Given the description of an element on the screen output the (x, y) to click on. 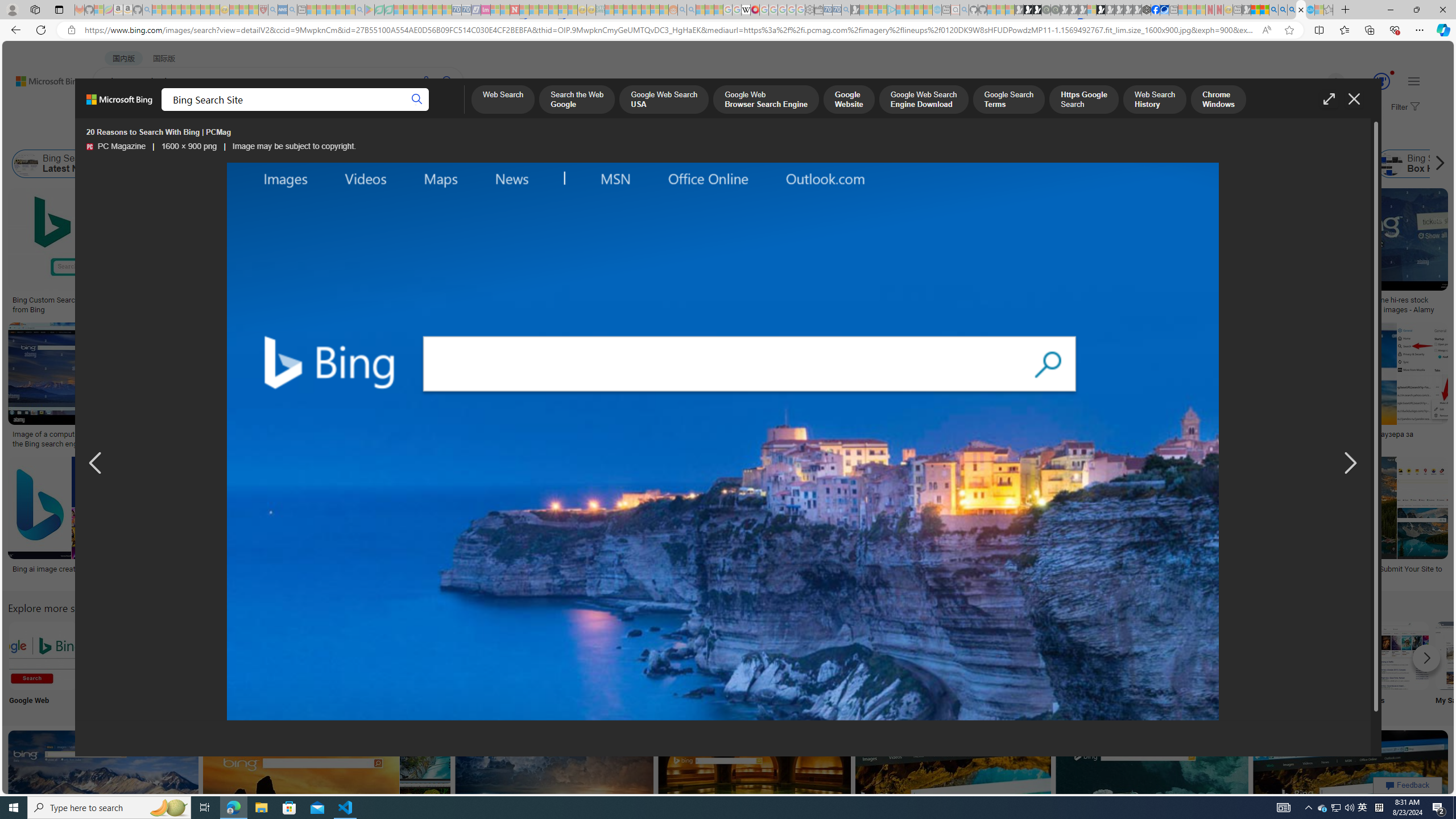
Search button (417, 99)
Color (173, 135)
Bing - SEOLendSave (282, 252)
Https Google Search (1083, 100)
Bing Random Search (794, 654)
Bing ai image creator (65, 568)
Engine (868, 665)
20 Reasons to Search With Bing | PCMag (722, 441)
Scroll more suggestions right (1426, 658)
Dropdown Menu (451, 111)
Bing People Search (568, 654)
Bing Search Bar Install (944, 654)
